Given the description of an element on the screen output the (x, y) to click on. 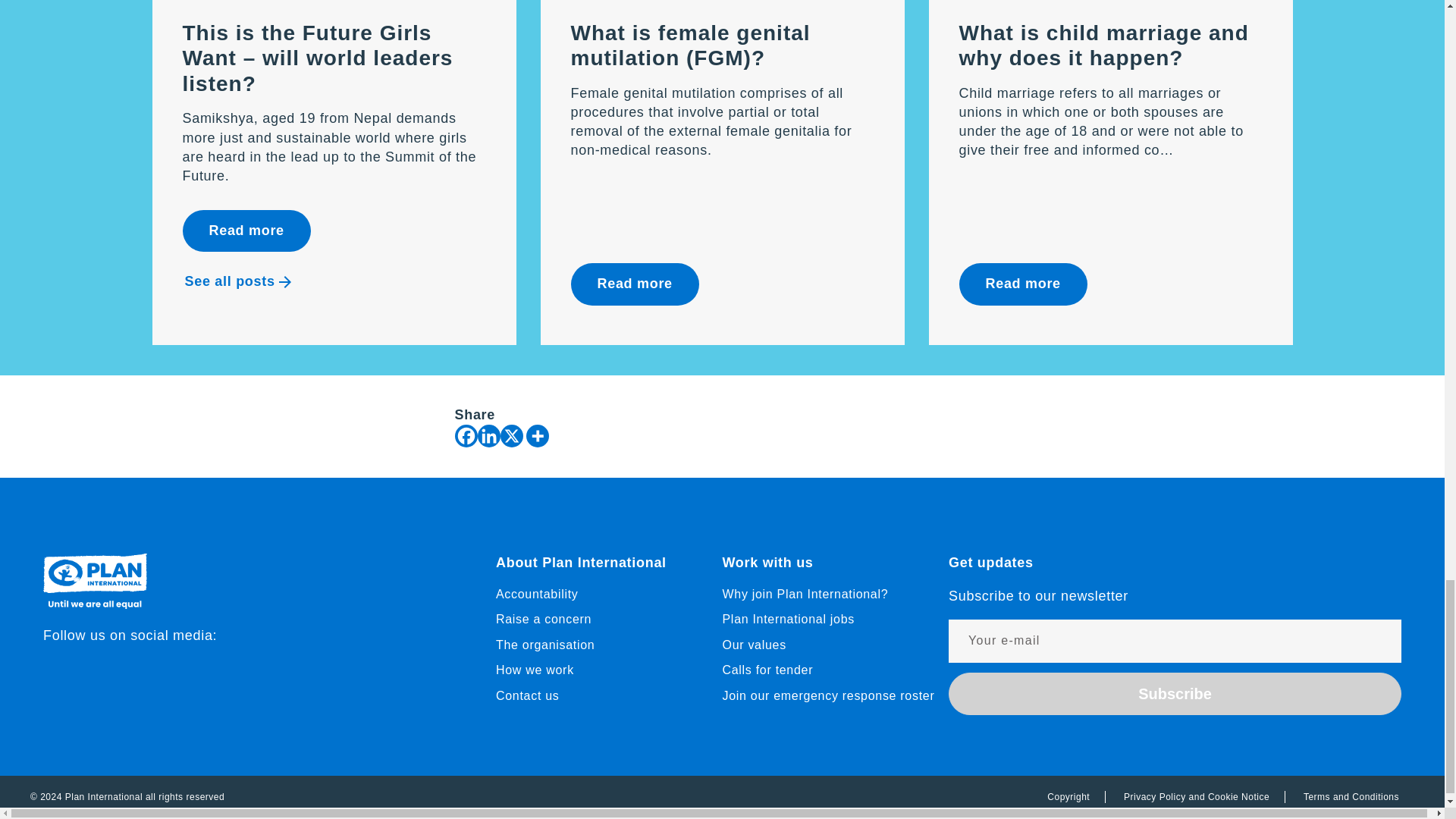
Subscribe (1174, 693)
More (536, 436)
Plan International (95, 604)
X (511, 436)
Linkedin (488, 436)
Facebook (465, 436)
